Given the description of an element on the screen output the (x, y) to click on. 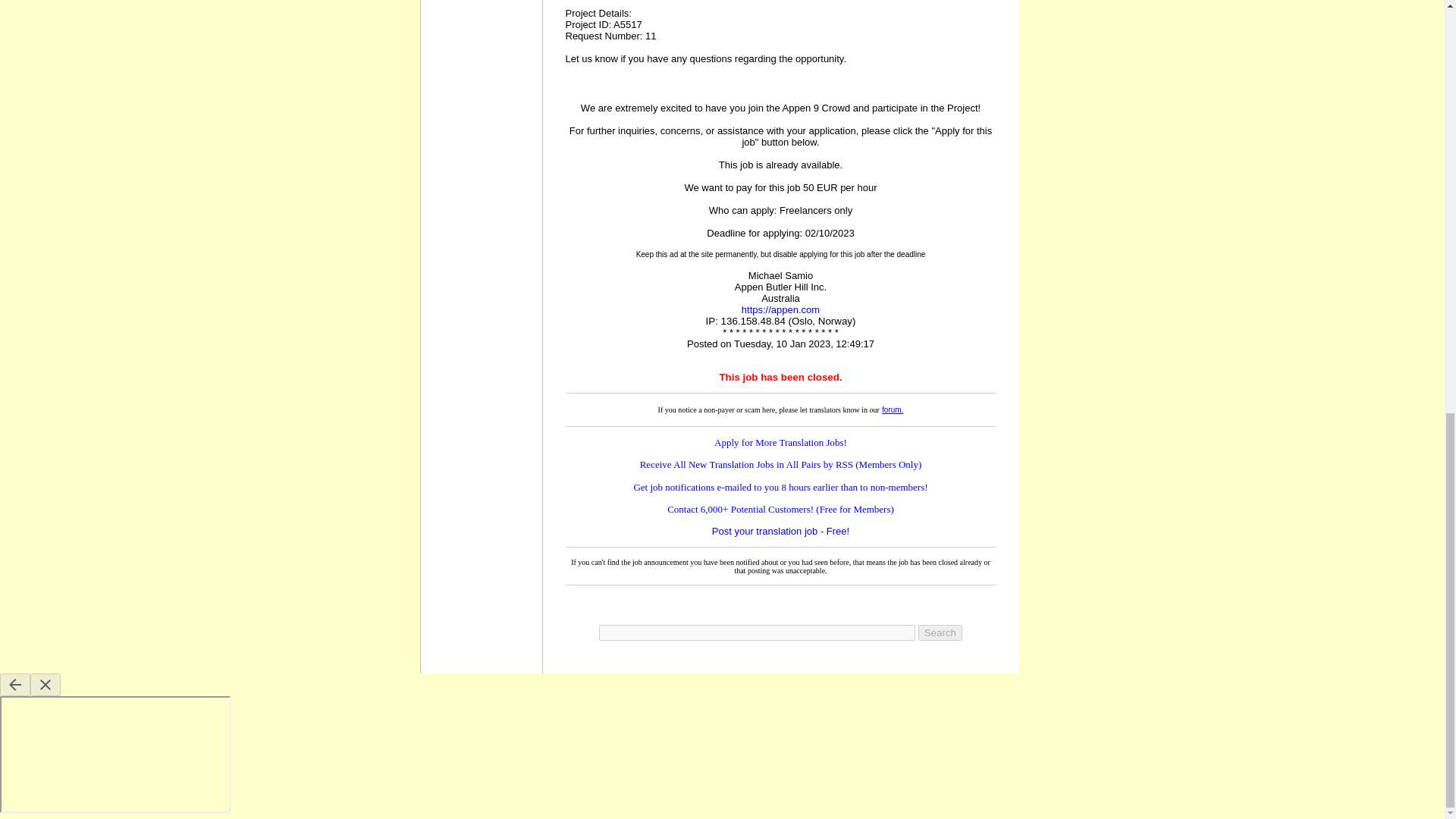
Post your translation job - Free! (779, 531)
forum. (892, 408)
Apply for More Translation Jobs! (780, 441)
Search (940, 632)
Search (940, 632)
